Given the description of an element on the screen output the (x, y) to click on. 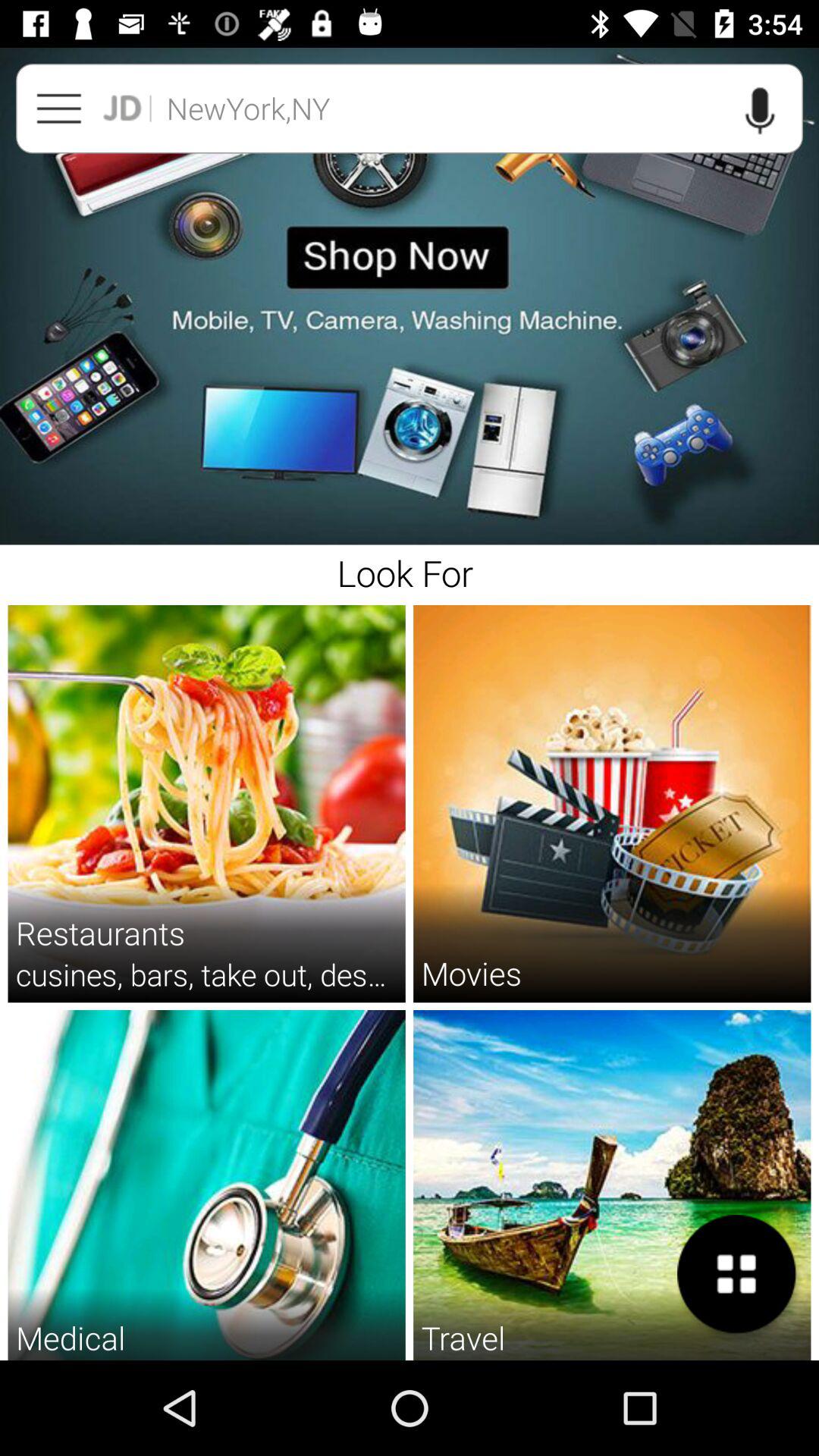
swipe to the restaurants icon (99, 932)
